Given the description of an element on the screen output the (x, y) to click on. 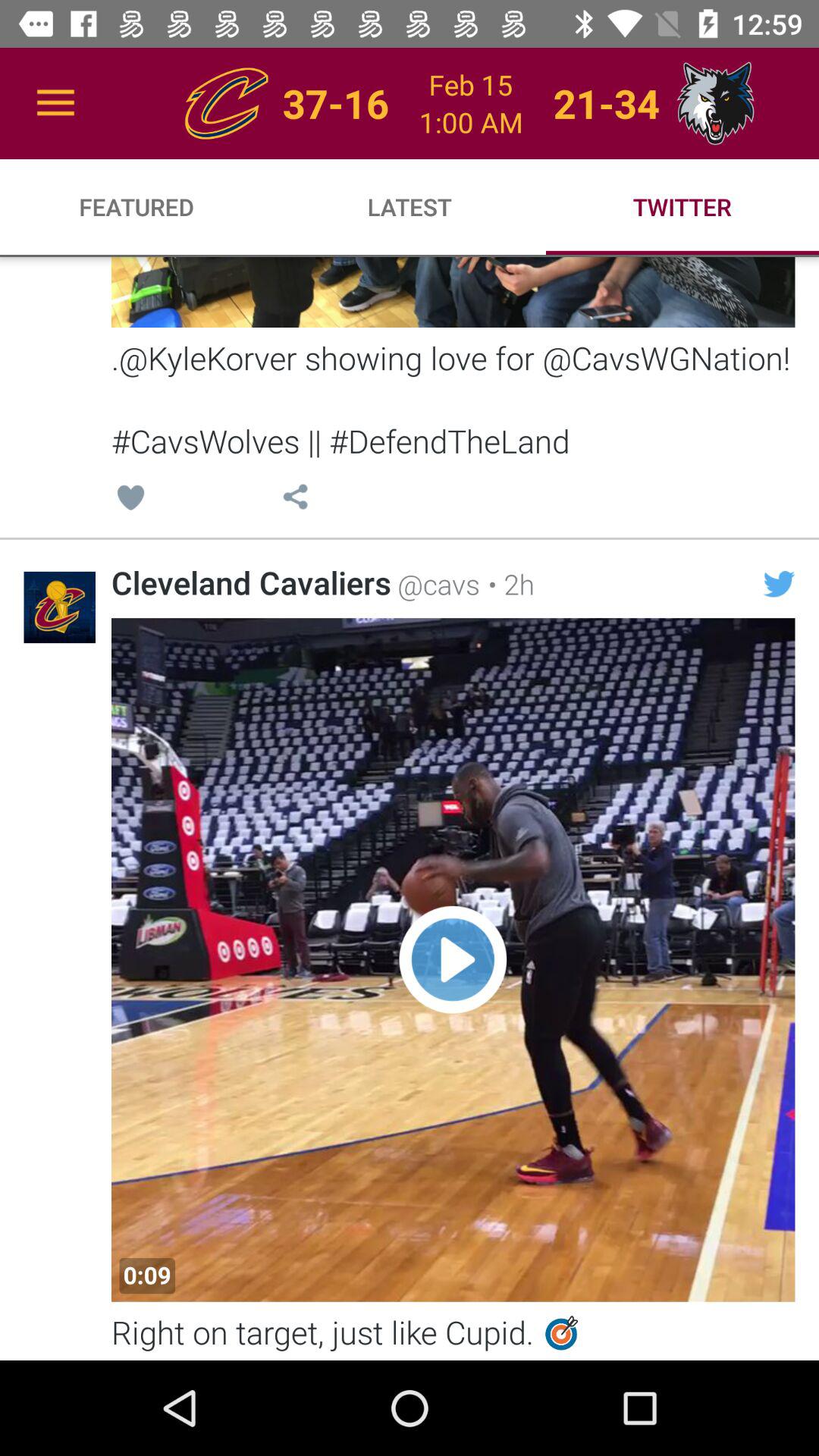
choose the right on target (453, 1335)
